Given the description of an element on the screen output the (x, y) to click on. 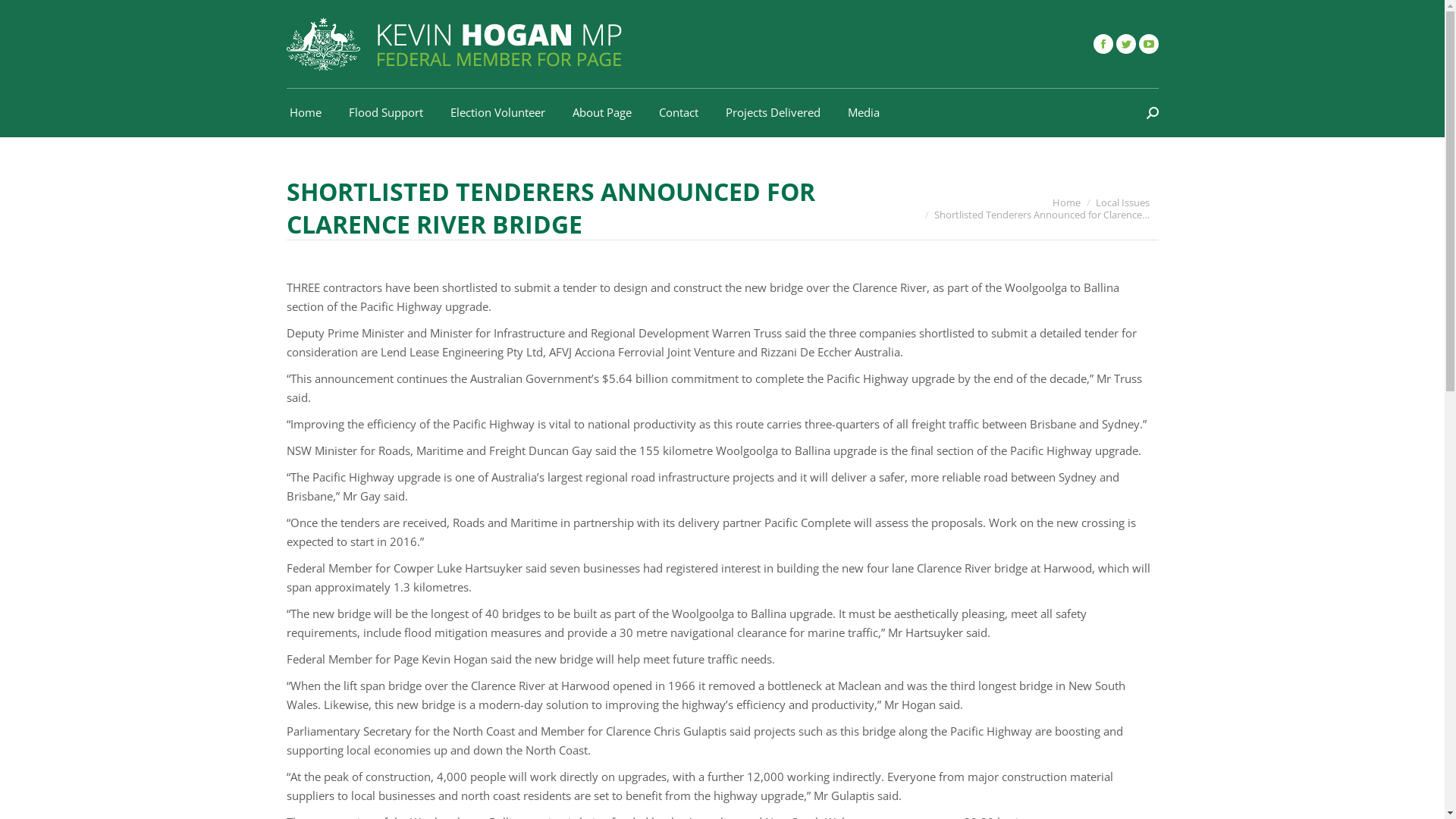
About Page Element type: text (600, 112)
Election Volunteer Element type: text (497, 112)
Facebook page opens in new window Element type: text (1103, 43)
Media Element type: text (863, 112)
Home Element type: text (1066, 202)
Local Issues Element type: text (1121, 202)
Flood Support Element type: text (385, 112)
Twitter page opens in new window Element type: text (1125, 43)
YouTube page opens in new window Element type: text (1148, 43)
Go! Element type: text (23, 15)
Home Element type: text (305, 112)
Contact Element type: text (677, 112)
Projects Delivered Element type: text (771, 112)
